Given the description of an element on the screen output the (x, y) to click on. 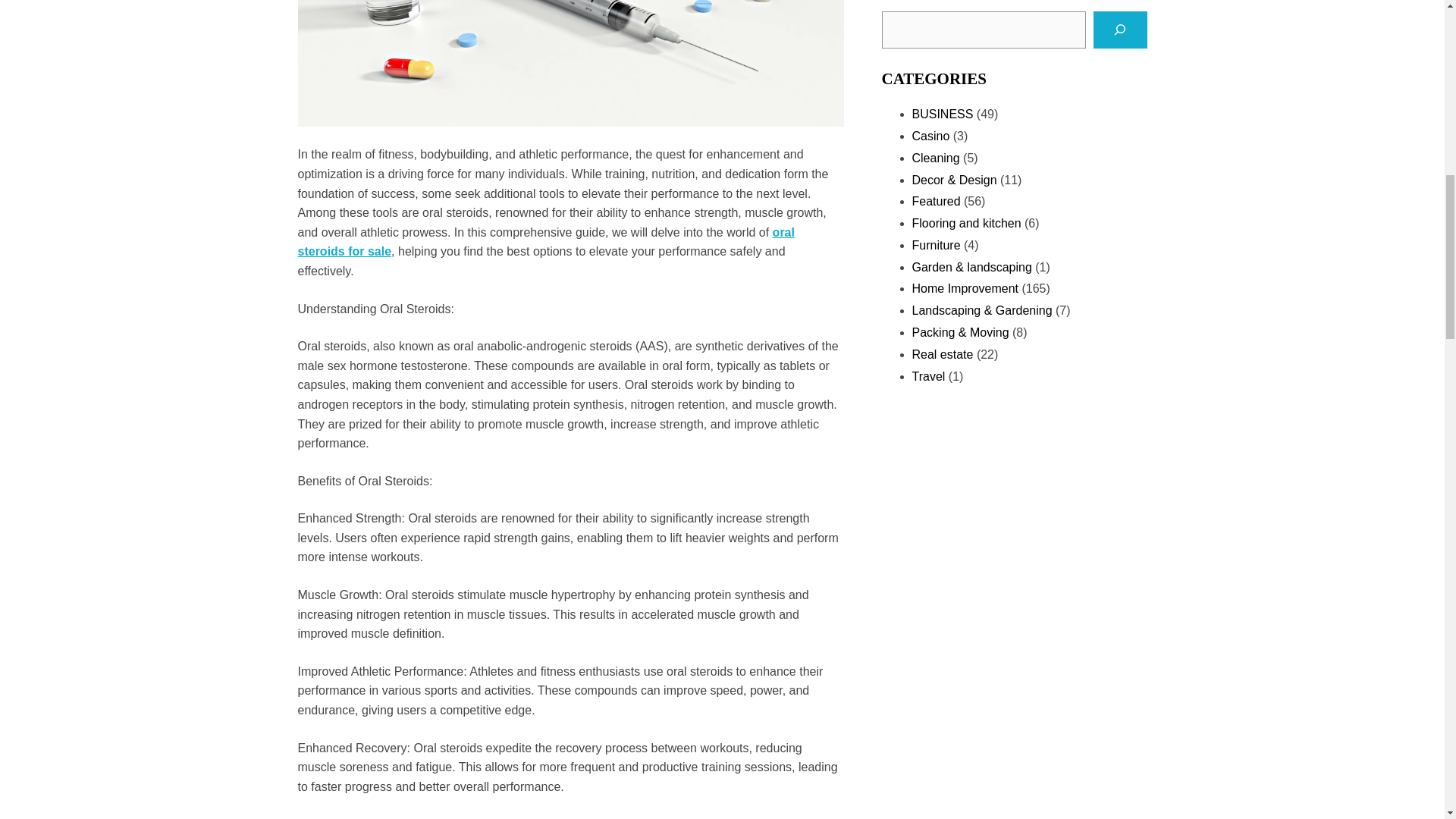
Casino (930, 135)
Real estate (941, 354)
Flooring and kitchen (965, 223)
BUSINESS (941, 113)
Featured (935, 201)
Furniture (935, 245)
Home Improvement (964, 287)
Cleaning (935, 157)
Travel (927, 376)
oral steroids for sale (545, 242)
